Given the description of an element on the screen output the (x, y) to click on. 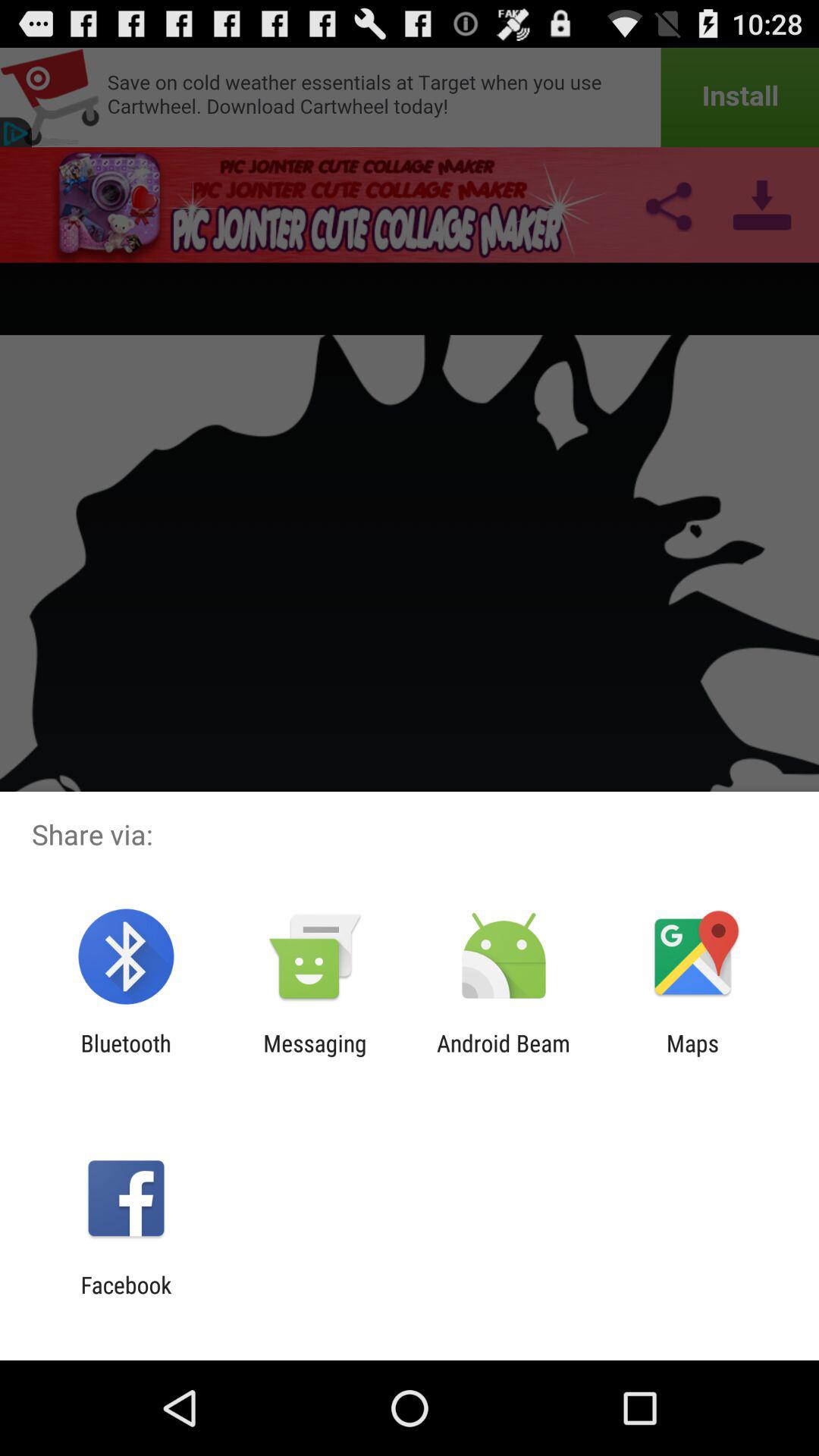
open item next to android beam item (692, 1056)
